Given the description of an element on the screen output the (x, y) to click on. 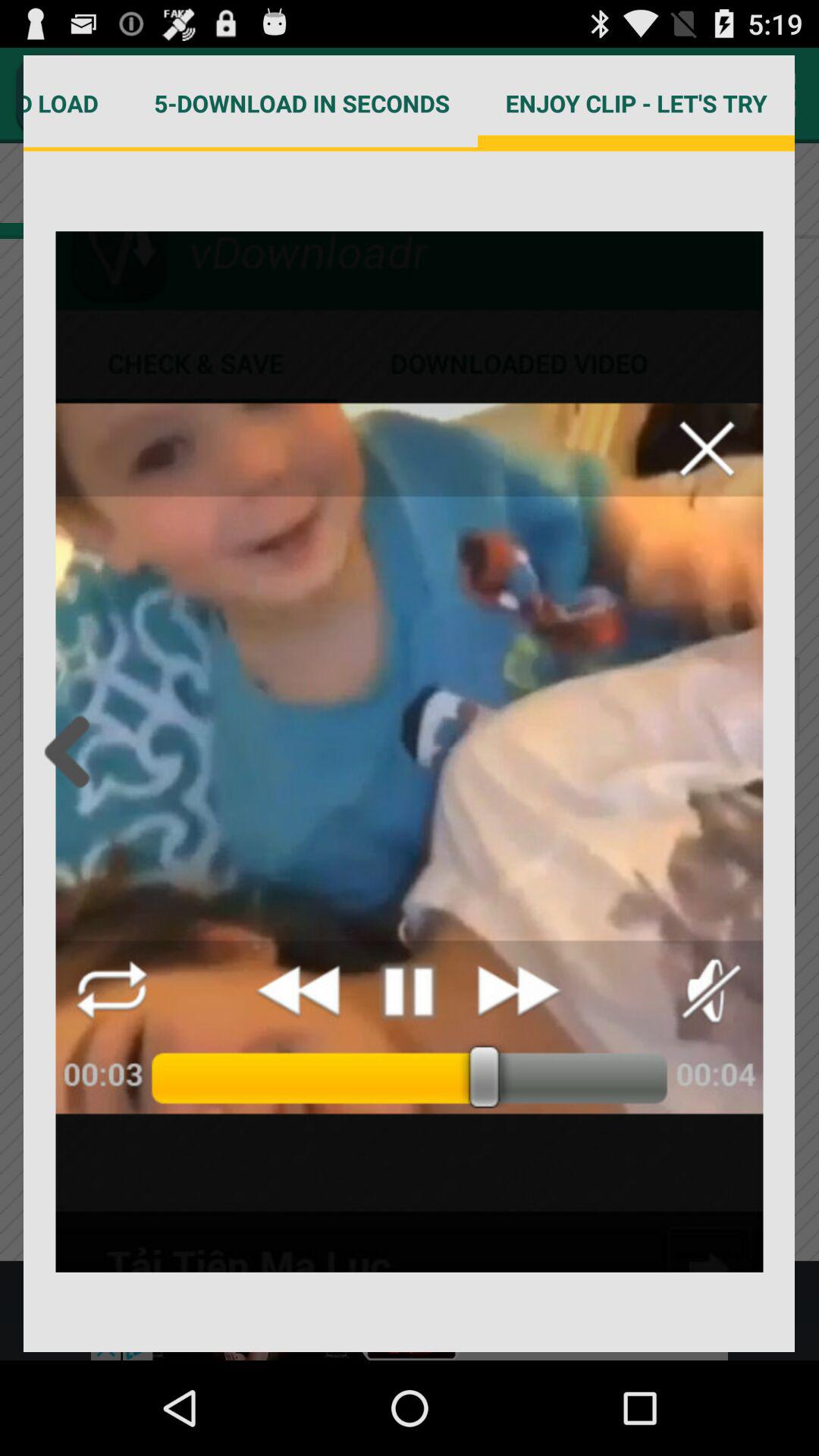
go back (71, 751)
